Given the description of an element on the screen output the (x, y) to click on. 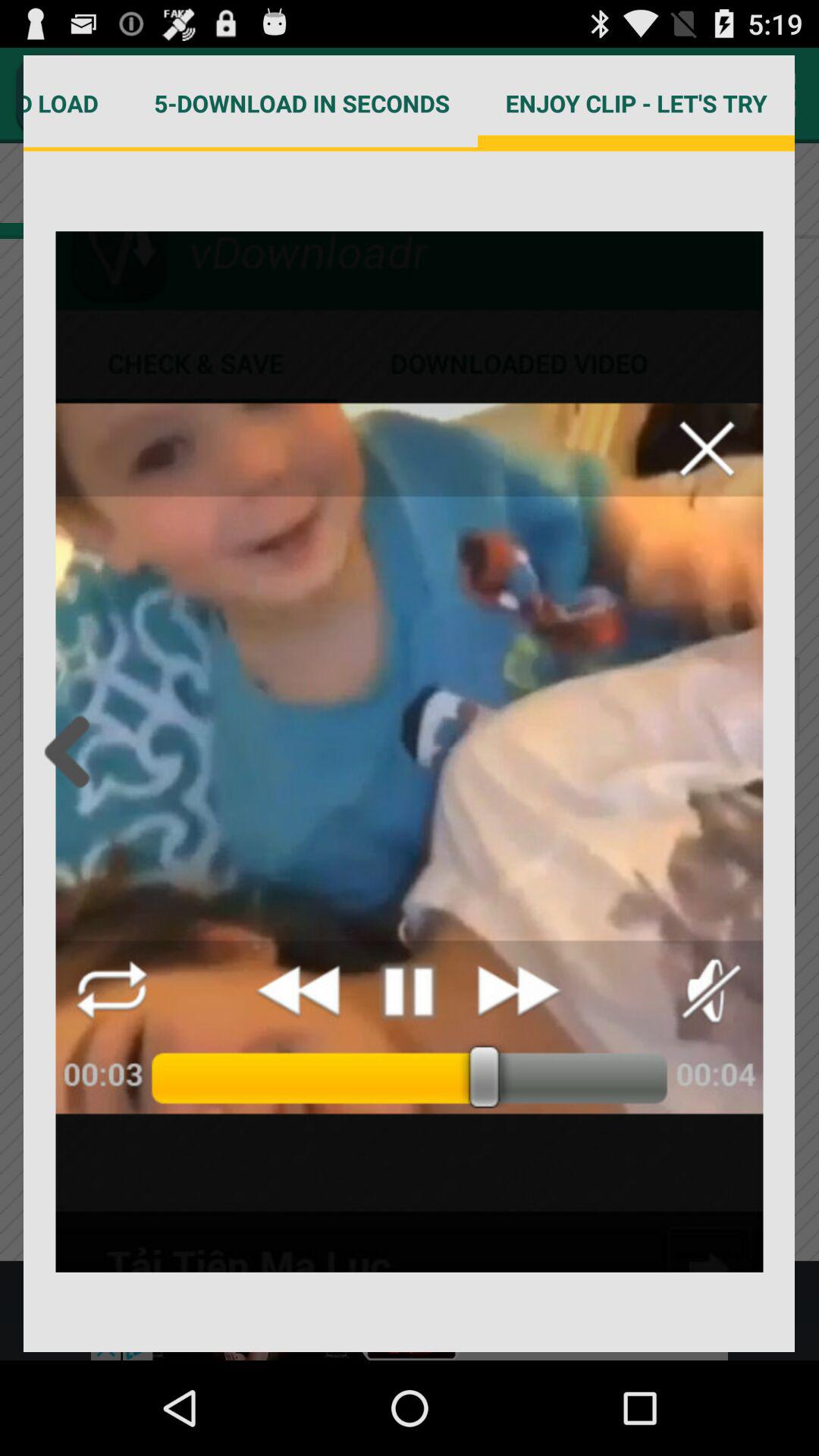
go back (71, 751)
